Given the description of an element on the screen output the (x, y) to click on. 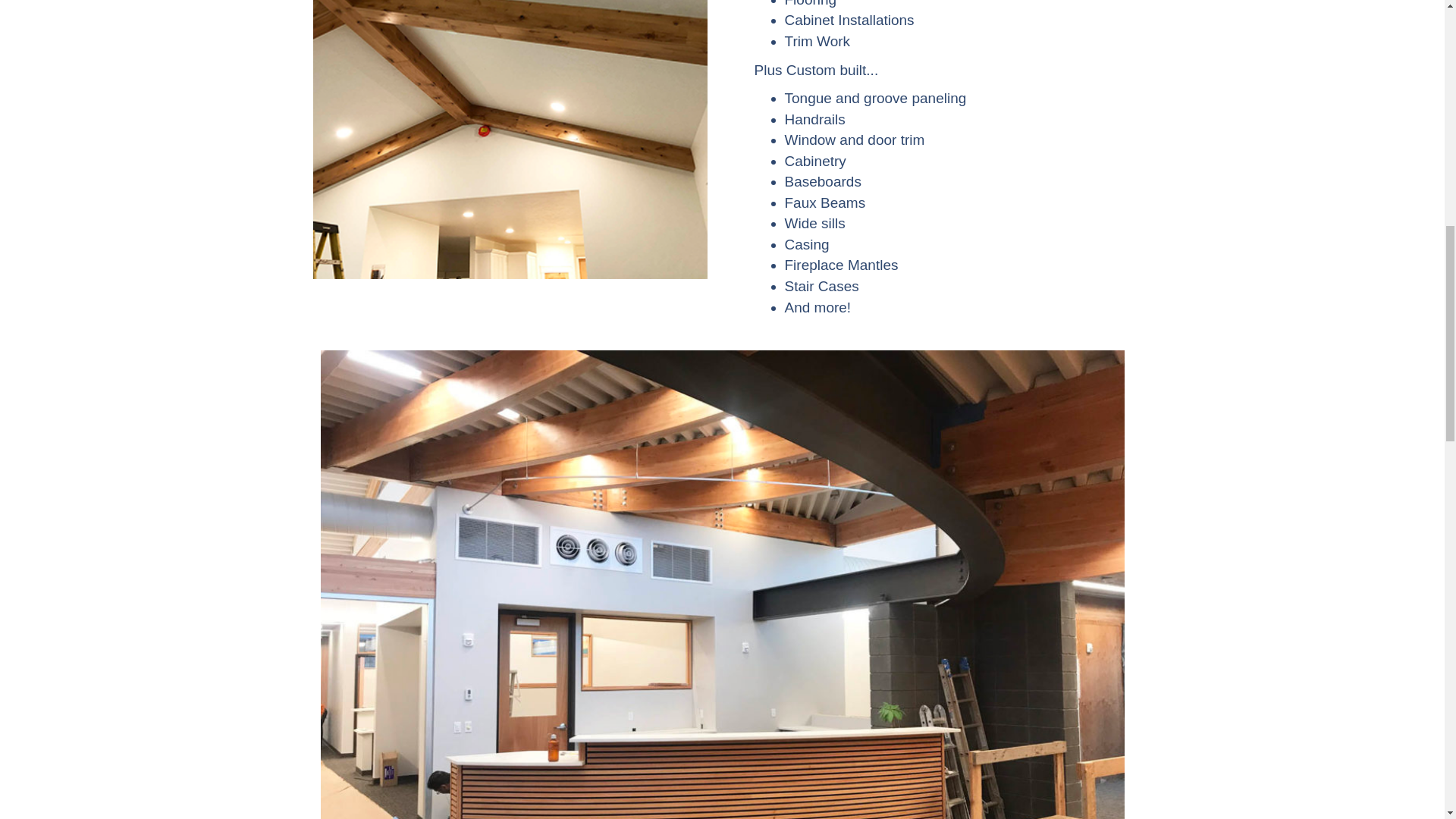
Unparalleled Value (509, 139)
